Given the description of an element on the screen output the (x, y) to click on. 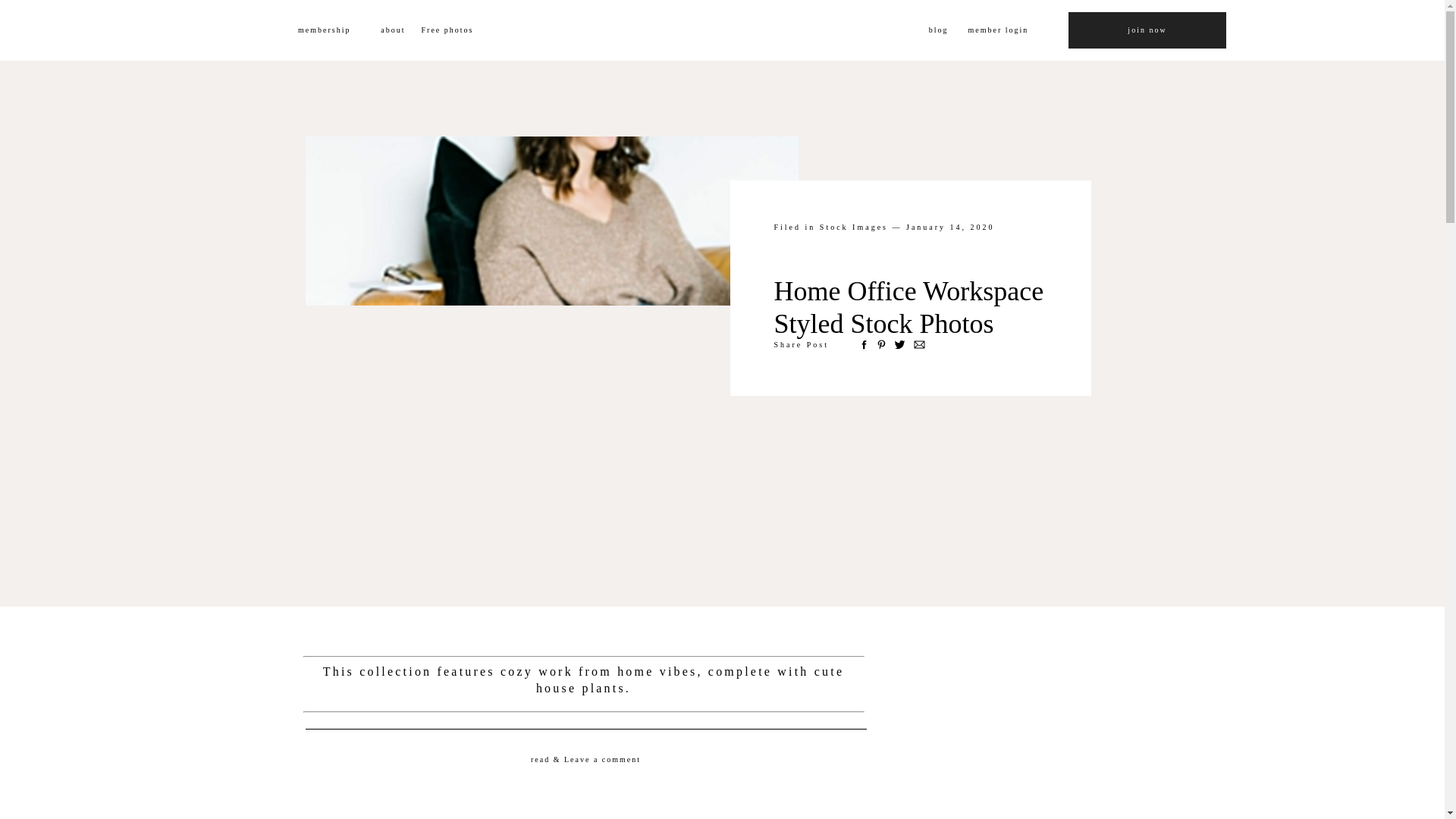
Free photos (469, 30)
join now (1146, 30)
blog (930, 30)
about (385, 30)
member login (1015, 30)
membership (315, 30)
Stock Images (853, 226)
